Given the description of an element on the screen output the (x, y) to click on. 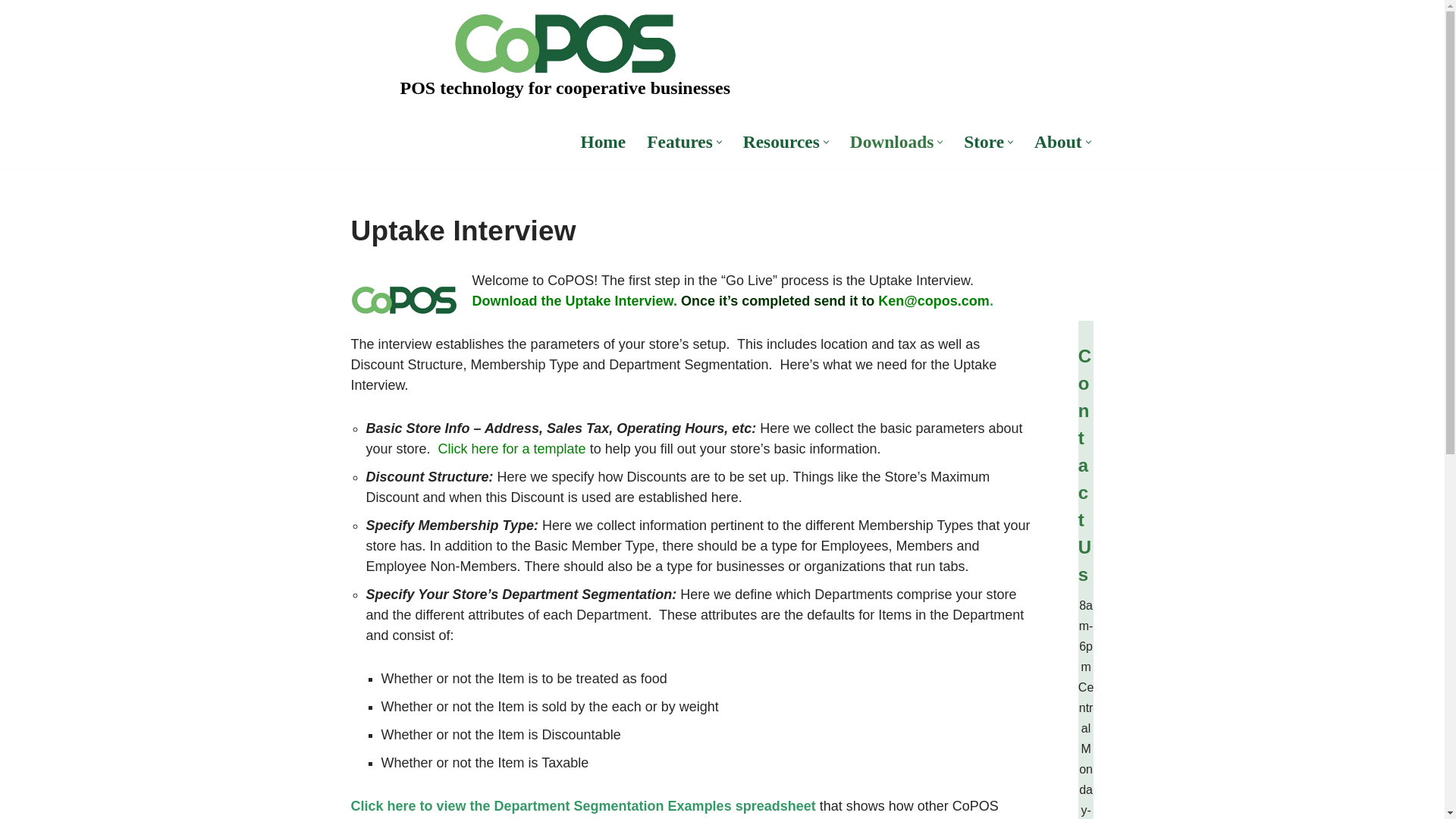
Features (679, 141)
Downloads (892, 141)
About (1057, 141)
Skip to content (11, 31)
POS technology for cooperative businesses (565, 57)
Store (983, 141)
Home (602, 141)
Resources (780, 141)
